Given the description of an element on the screen output the (x, y) to click on. 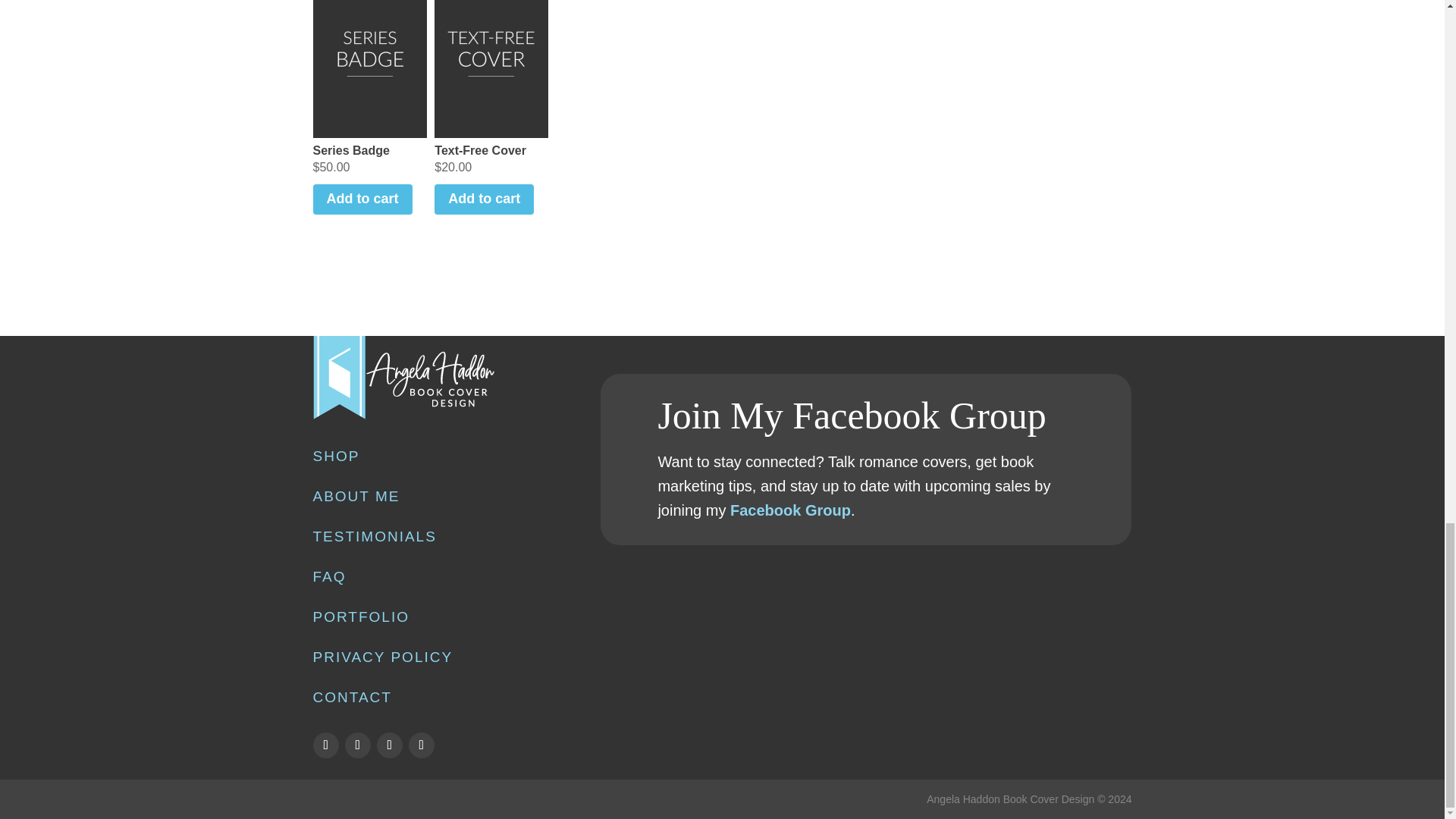
Angela Haddon Book Cover Design Logo - Home Page Link (404, 378)
Welcome to My Shop - Angela Haddon Book Cover Design (336, 455)
Follow on X (356, 745)
Contact Angela Haddon Book Cover Design (352, 697)
Follow on Pinterest (420, 745)
Follow on Instagram (388, 745)
Follow on Facebook (325, 745)
Portfolio of Angela Haddon Book Cover Design (361, 616)
Angela Haddon Book Cover Design - Home Page (404, 416)
About Angela Haddon Book Cover Design (355, 496)
